Given the description of an element on the screen output the (x, y) to click on. 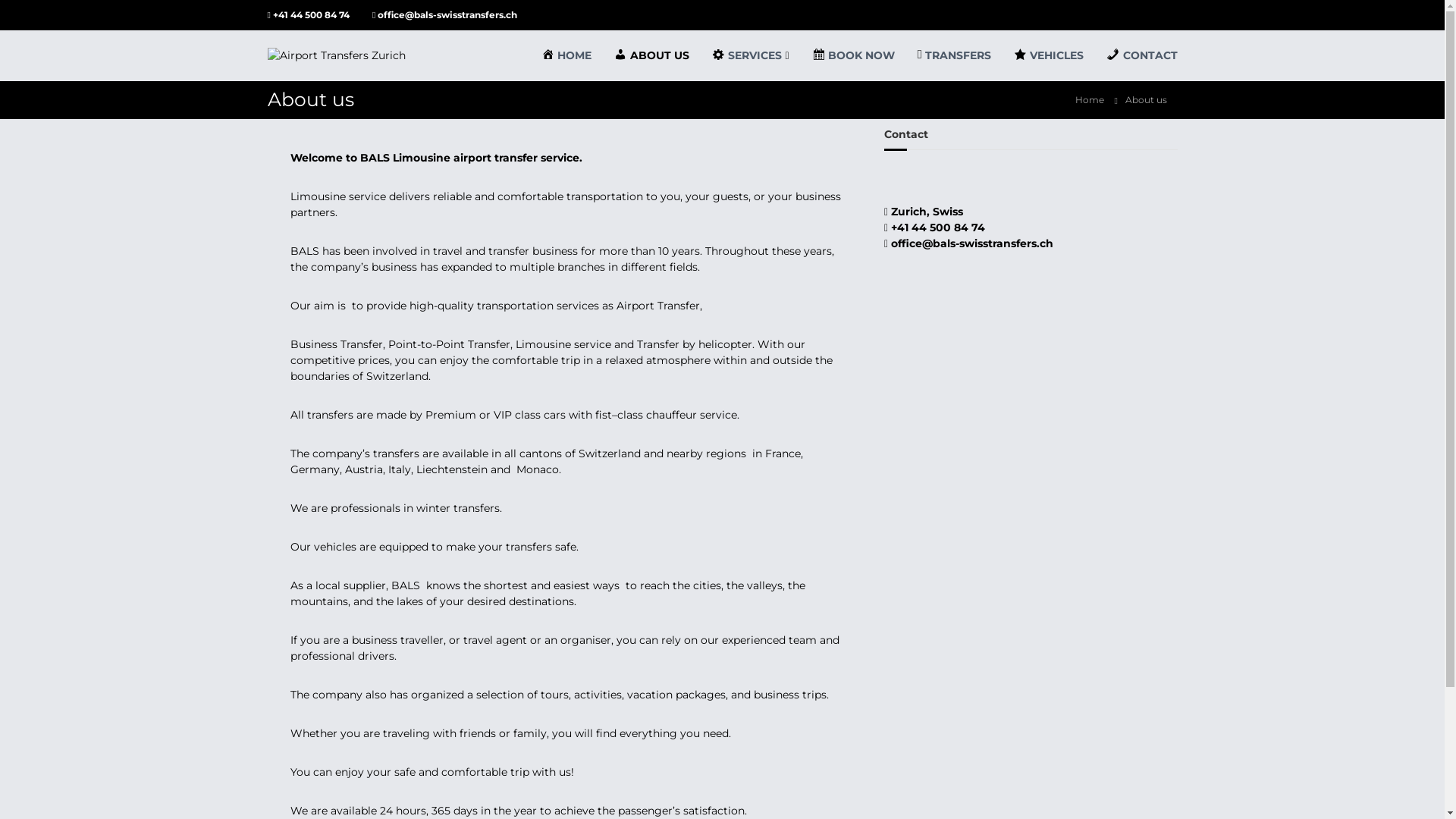
office@bals-swisstransfers.ch Element type: text (970, 243)
+41 44 500 84 74 Element type: text (936, 226)
SERVICES Element type: text (746, 55)
Airport Transfers Zurich Element type: text (420, 243)
CONTACT Element type: text (1141, 55)
HOME Element type: text (566, 55)
TRANSFERS Element type: text (954, 55)
 office@bals-swisstransfers.ch Element type: text (446, 14)
VEHICLES Element type: text (1048, 55)
+41 44 500 84 74 Element type: text (311, 14)
Home Element type: text (1089, 99)
Zurich, Swiss Element type: text (925, 211)
ABOUT US Element type: text (651, 55)
BOOK NOW Element type: text (853, 55)
